Given the description of an element on the screen output the (x, y) to click on. 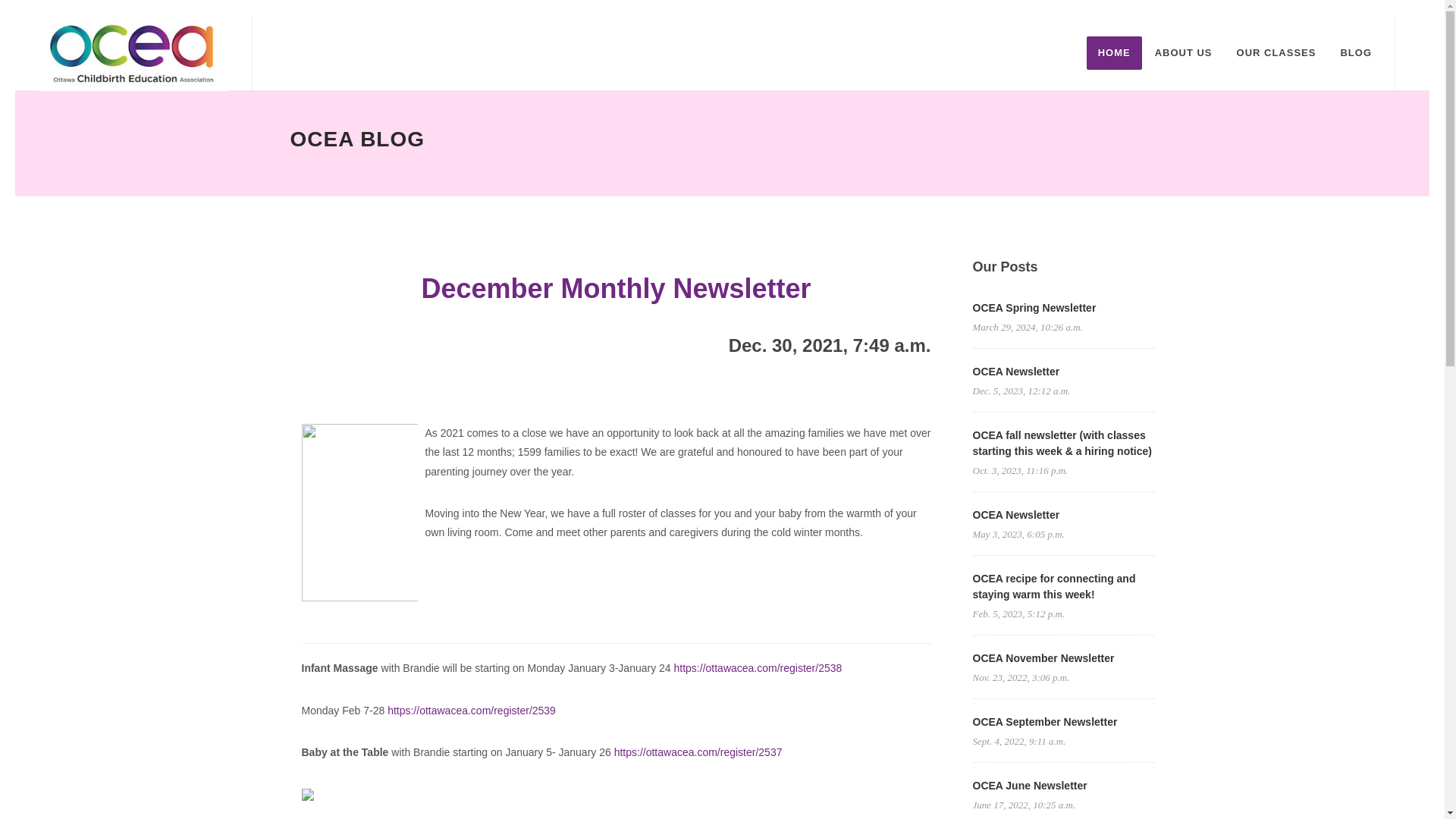
BLOG (1355, 52)
OCEA November Newsletter (1042, 657)
HOME (1113, 52)
OUR CLASSES (1276, 52)
OCEA recipe for connecting and staying warm this week! (1053, 586)
OCEA Spring Newsletter (1034, 307)
OCEA June Newsletter (1029, 785)
OCEA Newsletter (1015, 371)
OCEA Newsletter (1015, 514)
OCEA September Newsletter (1044, 721)
